Given the description of an element on the screen output the (x, y) to click on. 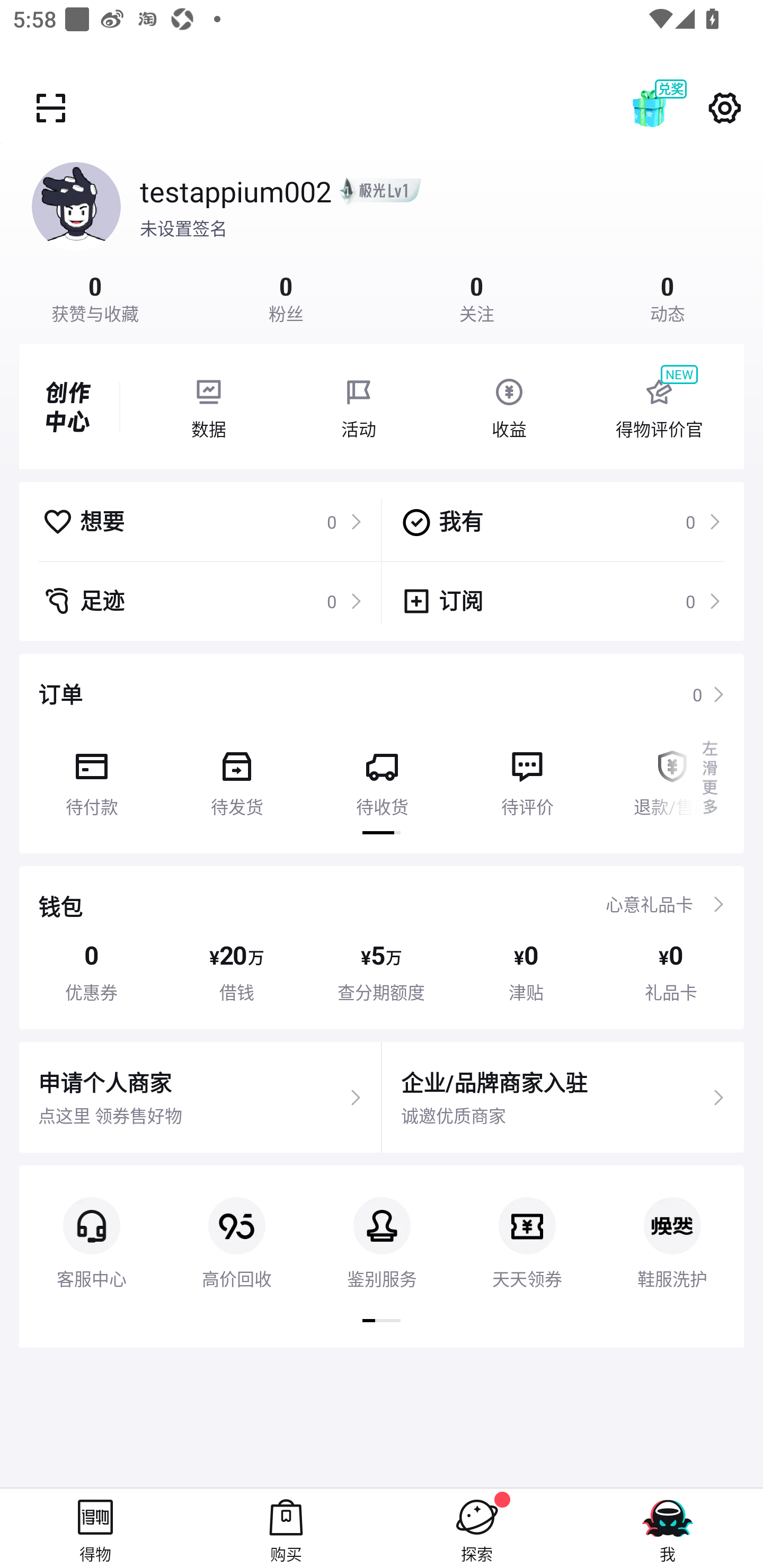
兑奖 (667, 107)
testappium002 未设置签名 0 获赞与收藏 0 粉丝 0 关注 0 动态 (381, 233)
0 获赞与收藏 (95, 296)
0 粉丝 (285, 296)
0 关注 (476, 296)
0 动态 (667, 296)
数据 (208, 406)
活动 (358, 406)
收益 (508, 406)
NEW 得物评价官 (658, 406)
想要 0 (201, 521)
我有 0 (560, 521)
足迹 0 (201, 601)
订阅 0 (560, 601)
订单 0 待付款 待发货 待收货 待评价 退款/售后 (381, 752)
待付款 (91, 776)
待发货 (236, 776)
待收货 (381, 776)
待评价 (526, 776)
退款/售后 (671, 776)
心意礼品卡 (648, 903)
0 优惠券 (91, 971)
¥ 20 万 借钱 (236, 971)
¥ 5 万 查分期额度 (381, 971)
¥ 0 津贴 (525, 971)
¥ 0 礼品卡 (670, 971)
申请个人商家 点这里 领券售好物 (199, 1097)
企业/品牌商家入驻 诚邀优质商家 (562, 1097)
客服中心 (91, 1227)
高价回收 (236, 1227)
鉴别服务 (381, 1227)
天天领券 (526, 1227)
鞋服洗护 (671, 1227)
得物 (95, 1528)
购买 (285, 1528)
探索 (476, 1528)
我 (667, 1528)
